Given the description of an element on the screen output the (x, y) to click on. 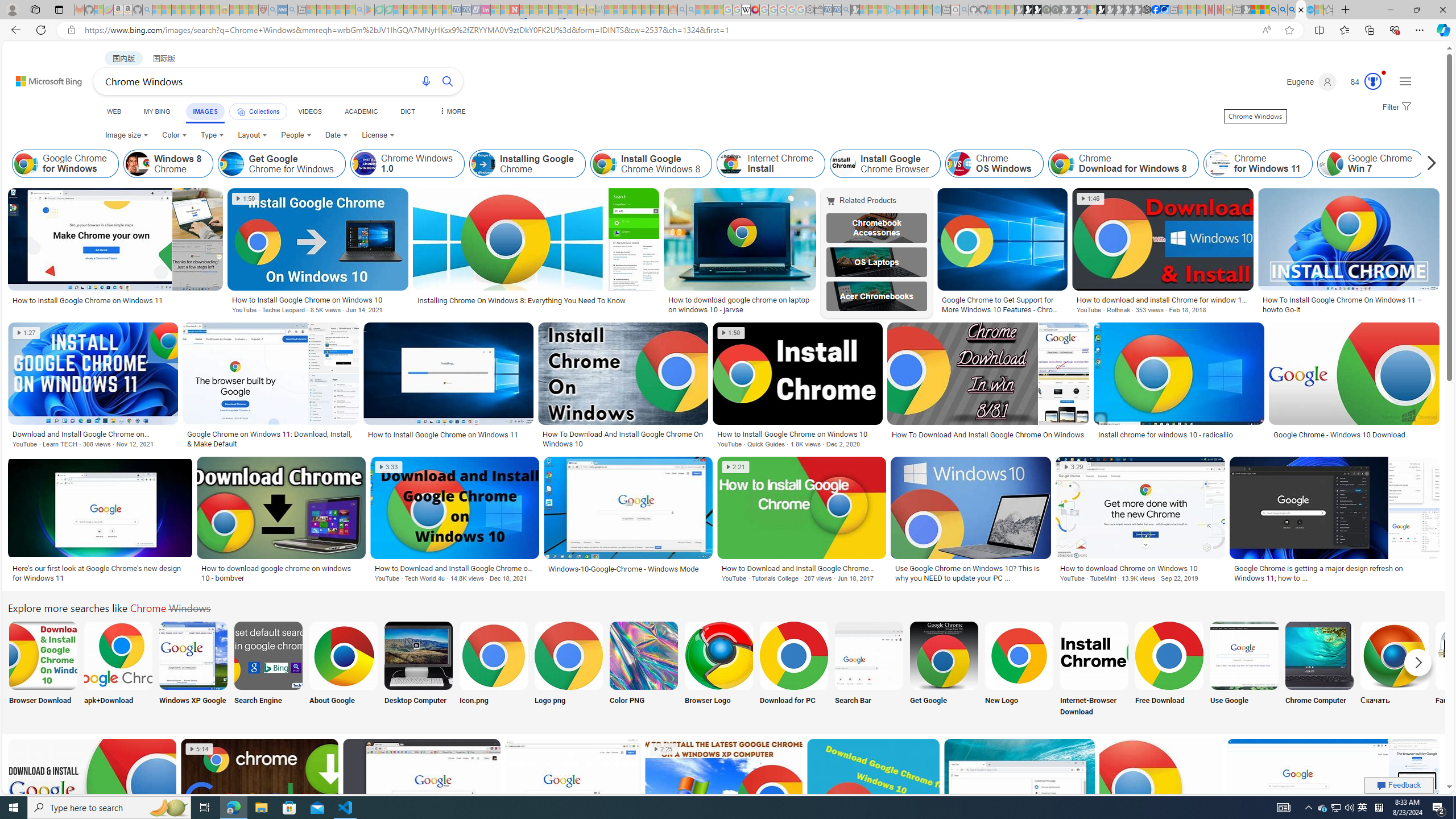
Google Chrome for Windows (65, 163)
Google Chrome Win 7 (1370, 163)
Chrome Logo.png Logo png (568, 669)
5:14 (198, 748)
Local - MSN - Sleeping (253, 9)
MORE (451, 111)
Chrome Free Download (1169, 654)
DITOGAMES AG Imprint - Sleeping (600, 9)
Class: b_pri_nav_svg (240, 112)
Cheap Hotels - Save70.com - Sleeping (466, 9)
3:29 (1073, 466)
